Given the description of an element on the screen output the (x, y) to click on. 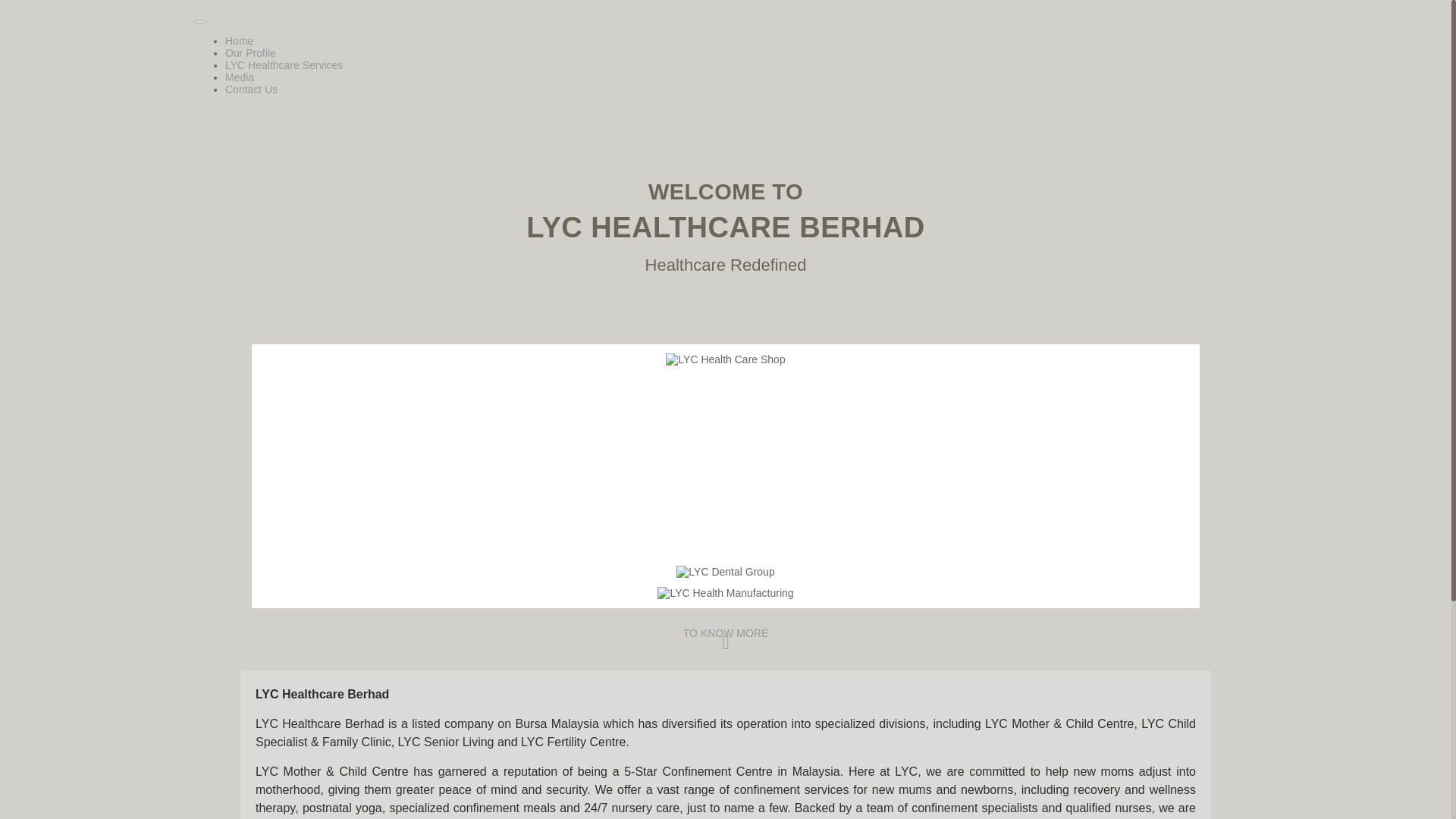
LYC Healthcare Services (283, 64)
Media (239, 77)
Our Profile (250, 52)
Contact Us (251, 89)
Toggle navigation (200, 21)
TO KNOW MORE (725, 639)
Home (239, 40)
